Given the description of an element on the screen output the (x, y) to click on. 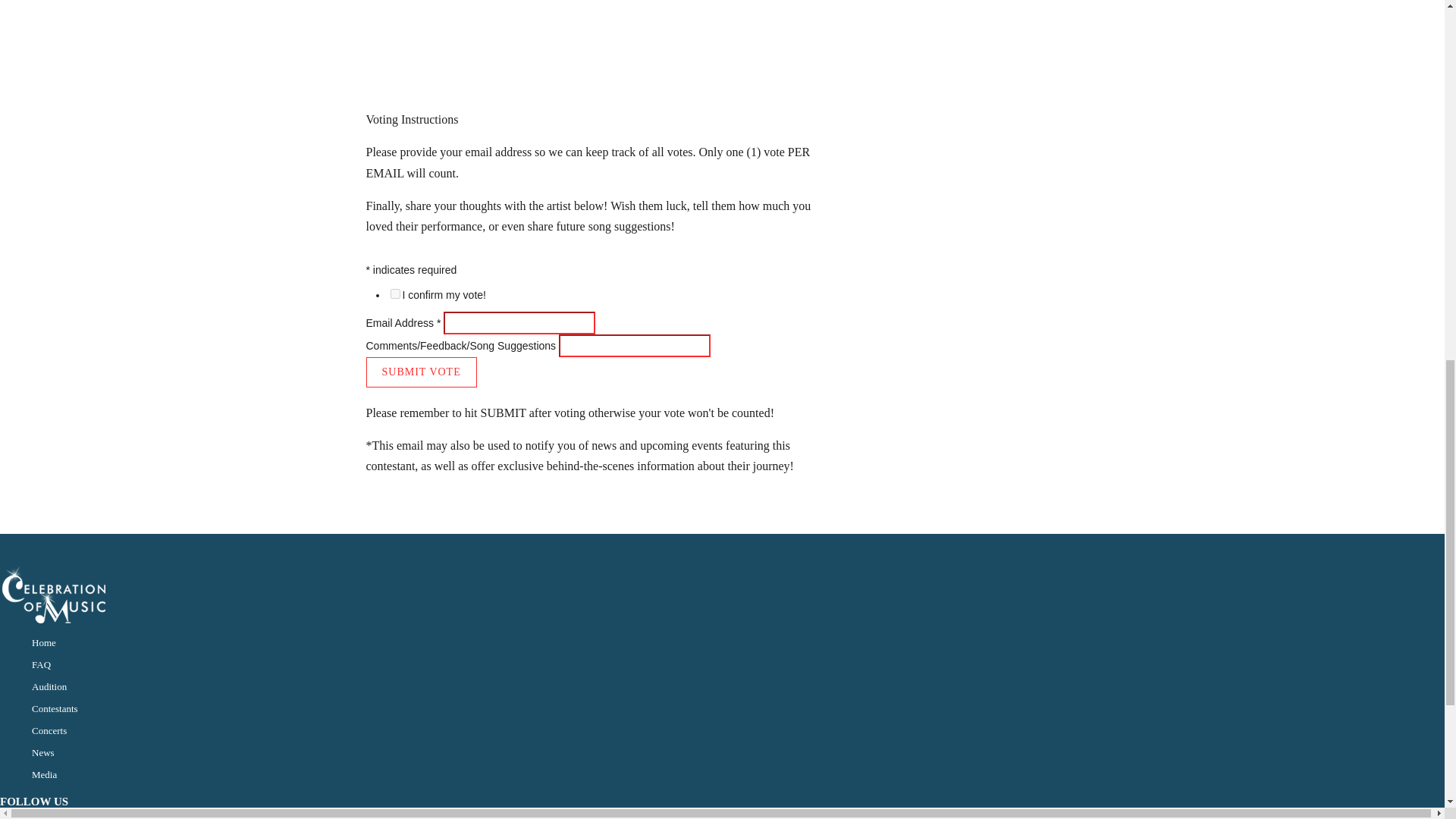
Submit Vote (420, 372)
1 (394, 293)
